Given the description of an element on the screen output the (x, y) to click on. 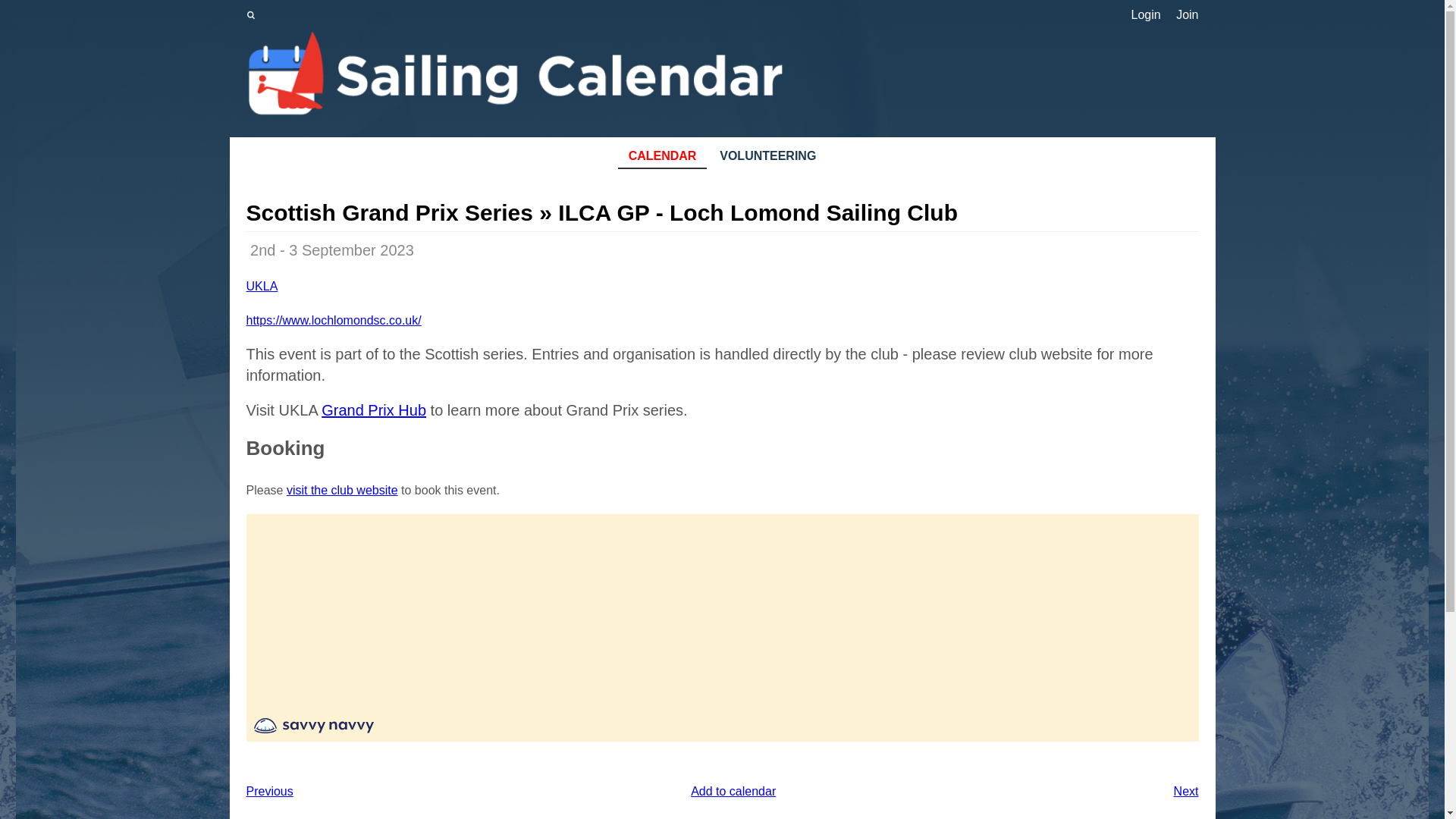
VOLUNTEERING (768, 156)
CALENDAR (661, 156)
Next (1185, 791)
Login (1145, 15)
Add to calendar (733, 790)
visit the club website (341, 490)
UKLA (262, 286)
Grand Prix Hub (373, 410)
Join (1187, 15)
Previous (269, 791)
